Given the description of an element on the screen output the (x, y) to click on. 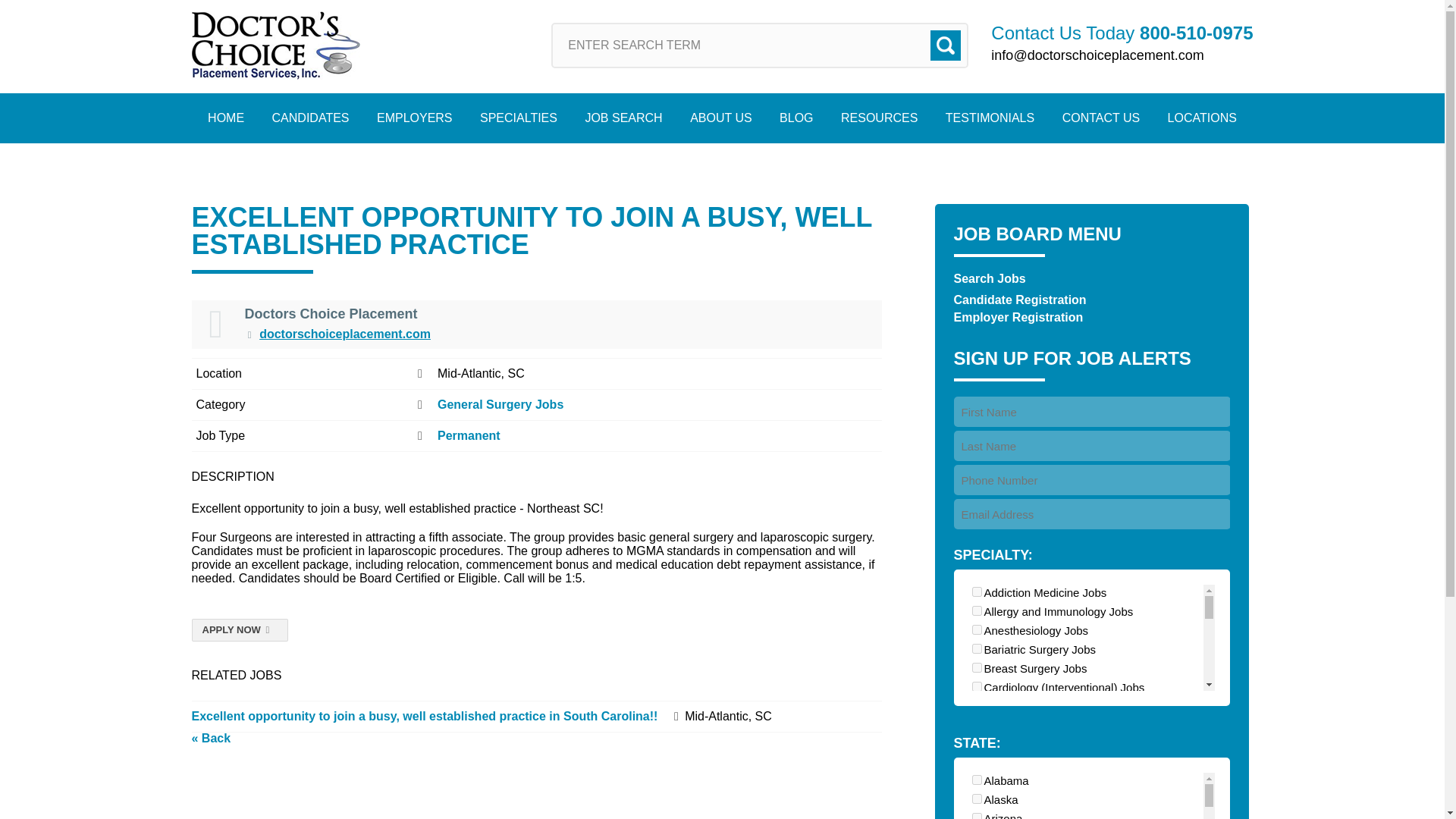
22 (976, 686)
HOME (225, 118)
Enter Search Term (759, 44)
28 (976, 629)
38 (976, 743)
800-510-0975 (1196, 32)
Doctors Choice Placement (274, 45)
74 (976, 781)
65 (976, 816)
SPECIALTIES (518, 118)
